Given the description of an element on the screen output the (x, y) to click on. 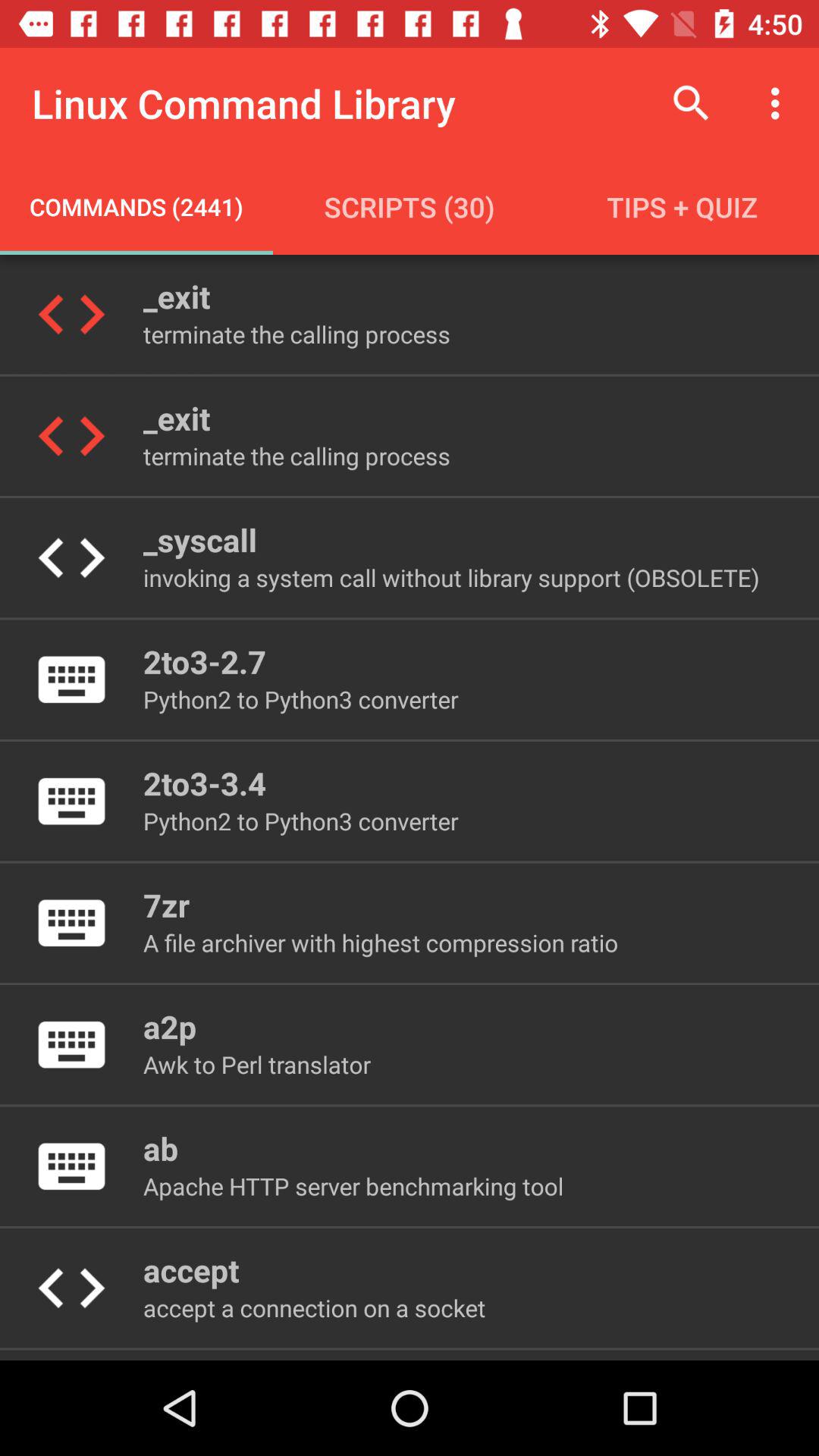
open icon above 2to3-2.7 item (451, 577)
